Given the description of an element on the screen output the (x, y) to click on. 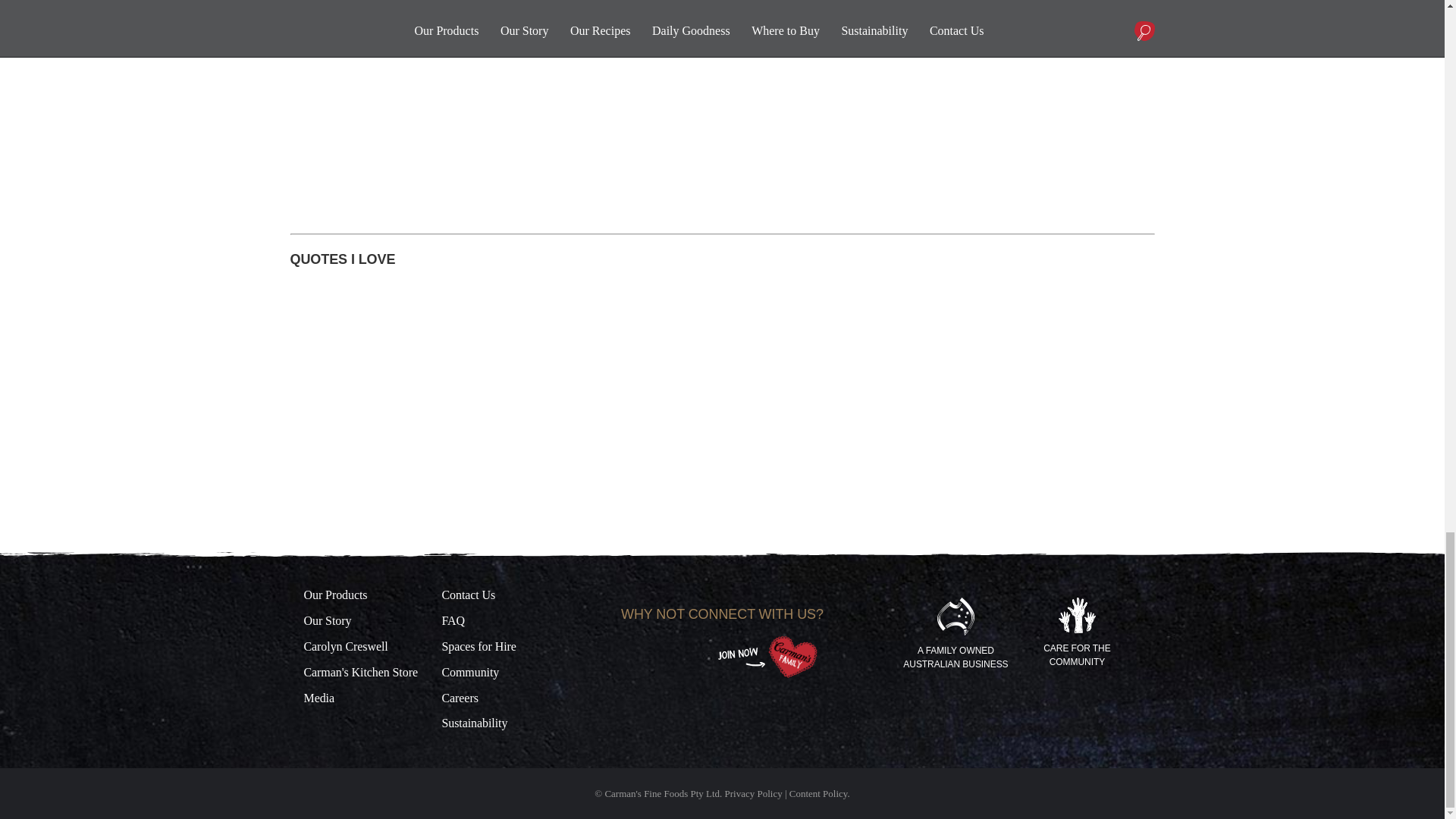
Facebook (640, 656)
Twitter (668, 656)
Instagram (694, 656)
